Given the description of an element on the screen output the (x, y) to click on. 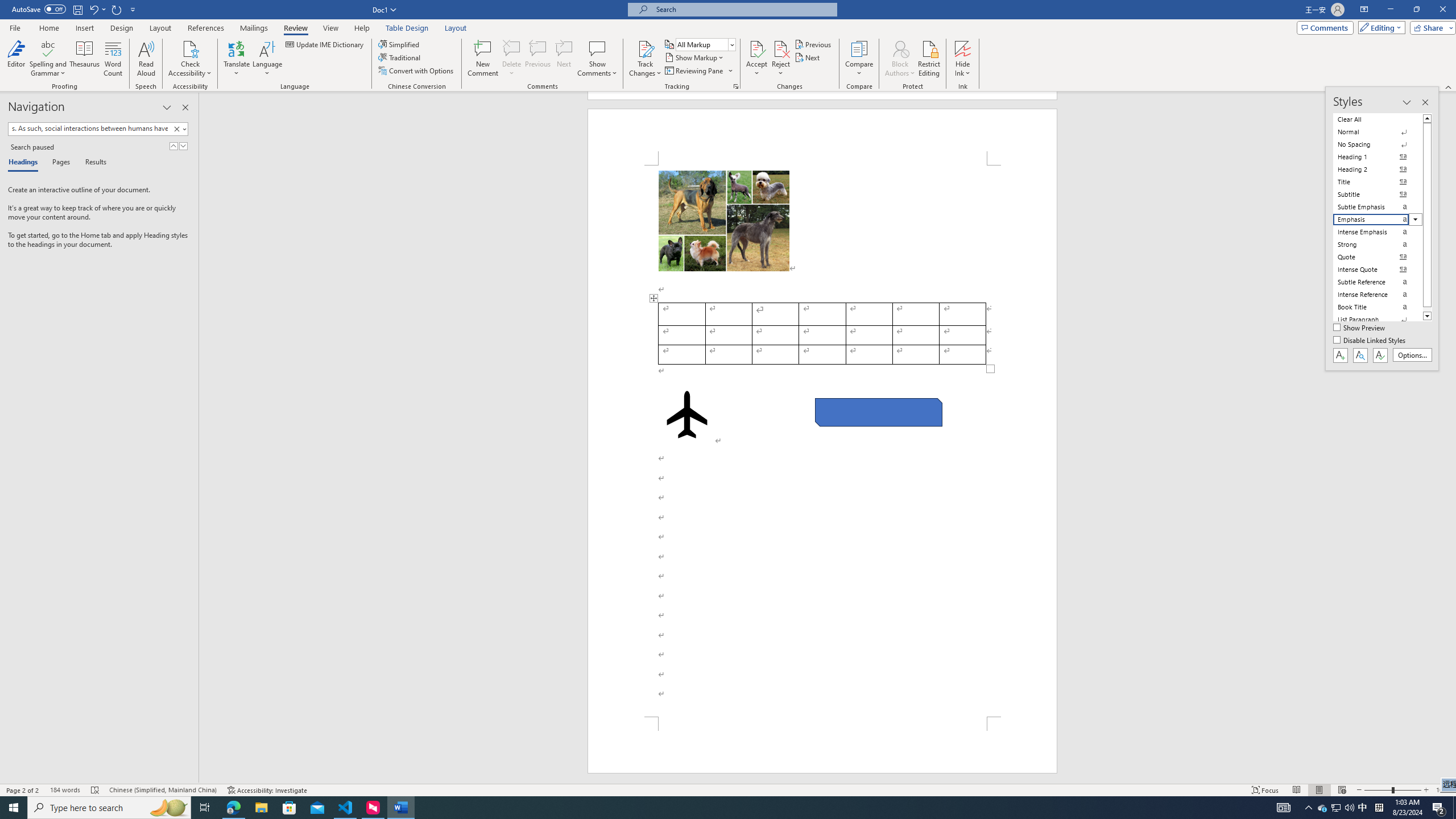
New Comment (482, 58)
Track Changes (644, 48)
Class: NetUIButton (1380, 355)
Block Authors (900, 58)
Compare (859, 58)
Convert with Options... (417, 69)
Delete (511, 58)
List Paragraph (1377, 319)
Subtle Emphasis (1377, 206)
Disable Linked Styles (1370, 340)
